Given the description of an element on the screen output the (x, y) to click on. 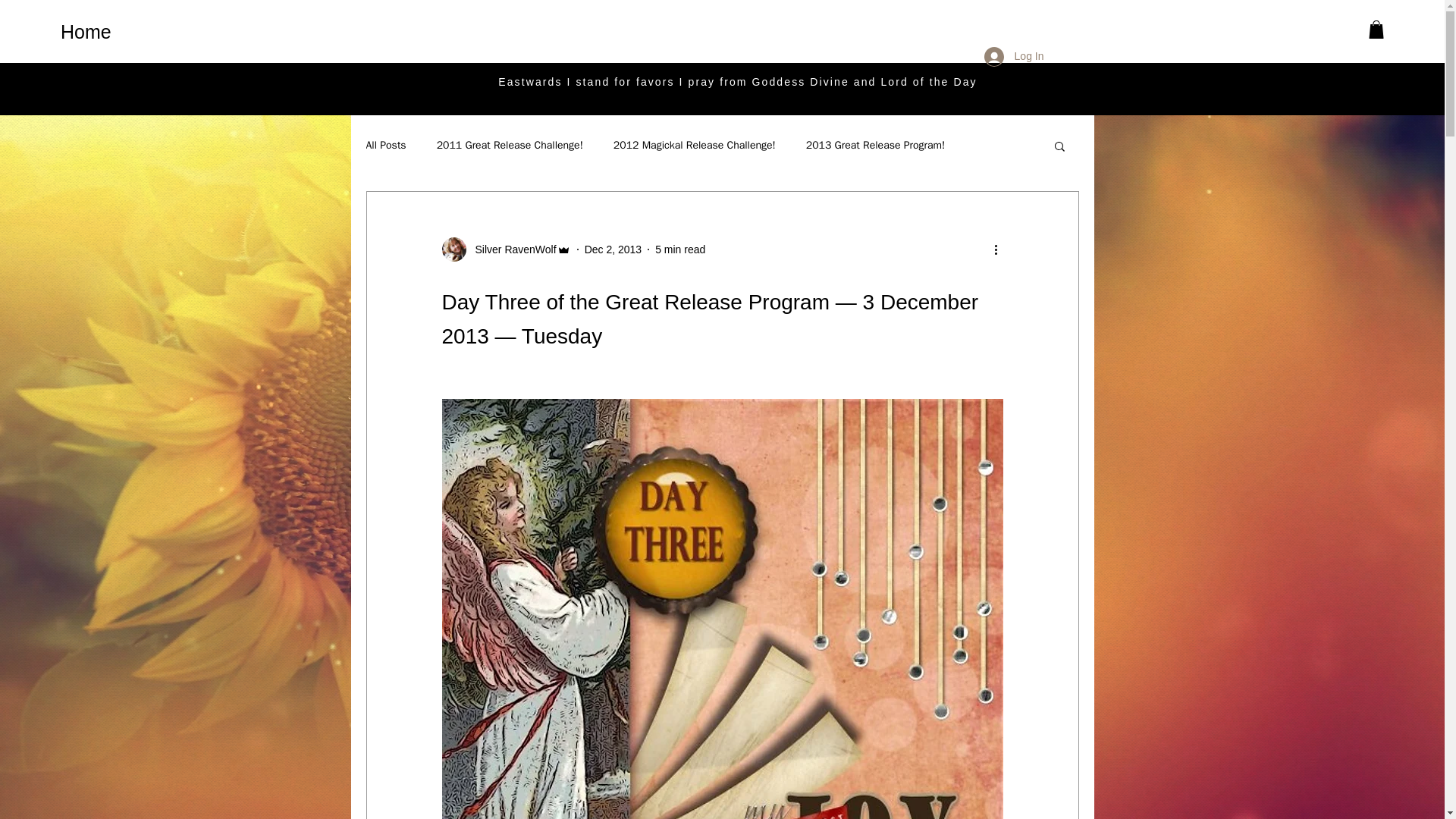
2011 Great Release Challenge! (509, 145)
Silver RavenWolf (510, 248)
2013 Great Release Program! (875, 145)
Dec 2, 2013 (613, 248)
Home (118, 31)
Log In (1014, 56)
5 min read (679, 248)
Silver RavenWolf (505, 249)
All Posts (385, 145)
2012 Magickal Release Challenge! (694, 145)
